Given the description of an element on the screen output the (x, y) to click on. 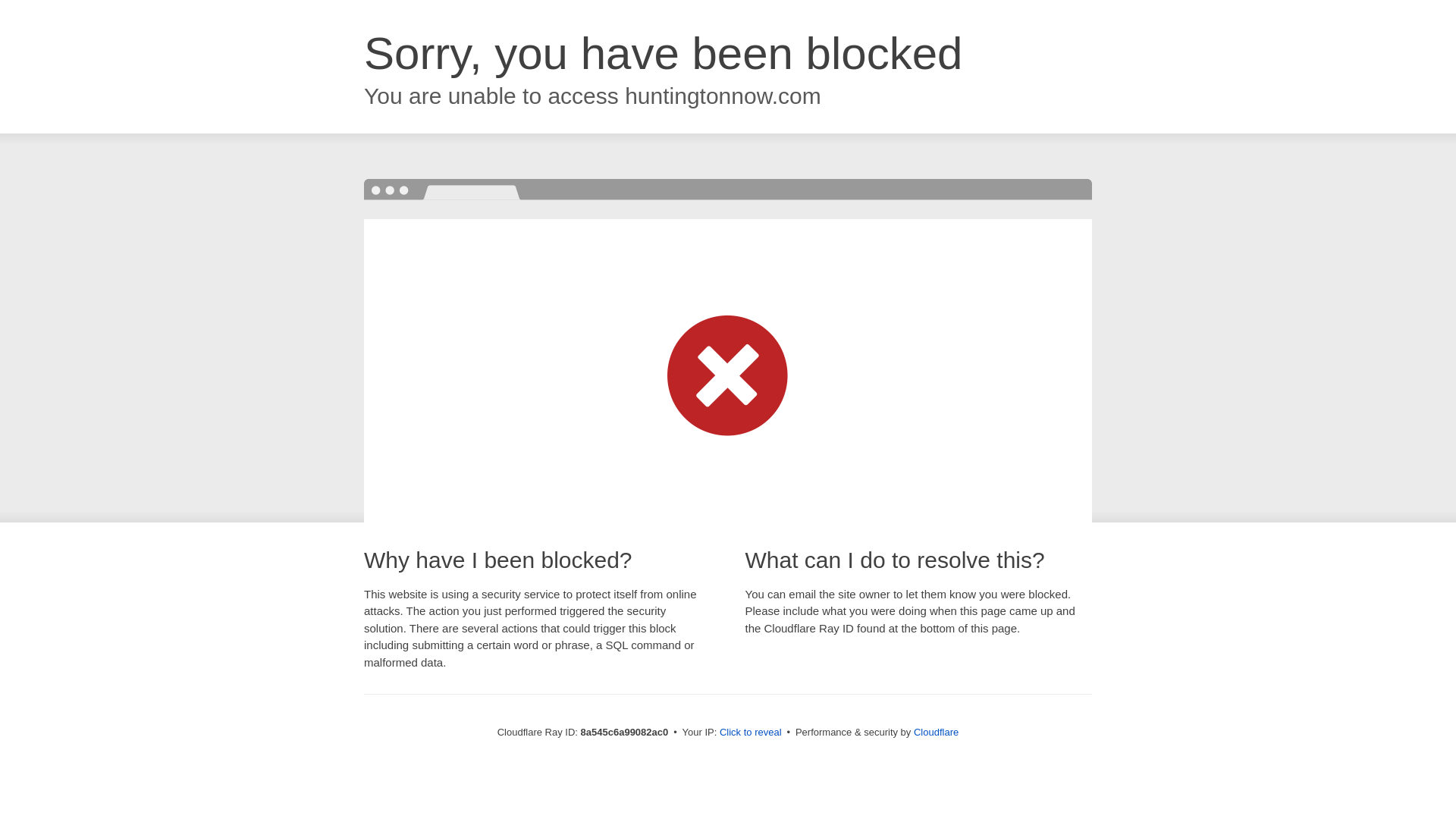
Cloudflare (936, 731)
Click to reveal (750, 732)
